Given the description of an element on the screen output the (x, y) to click on. 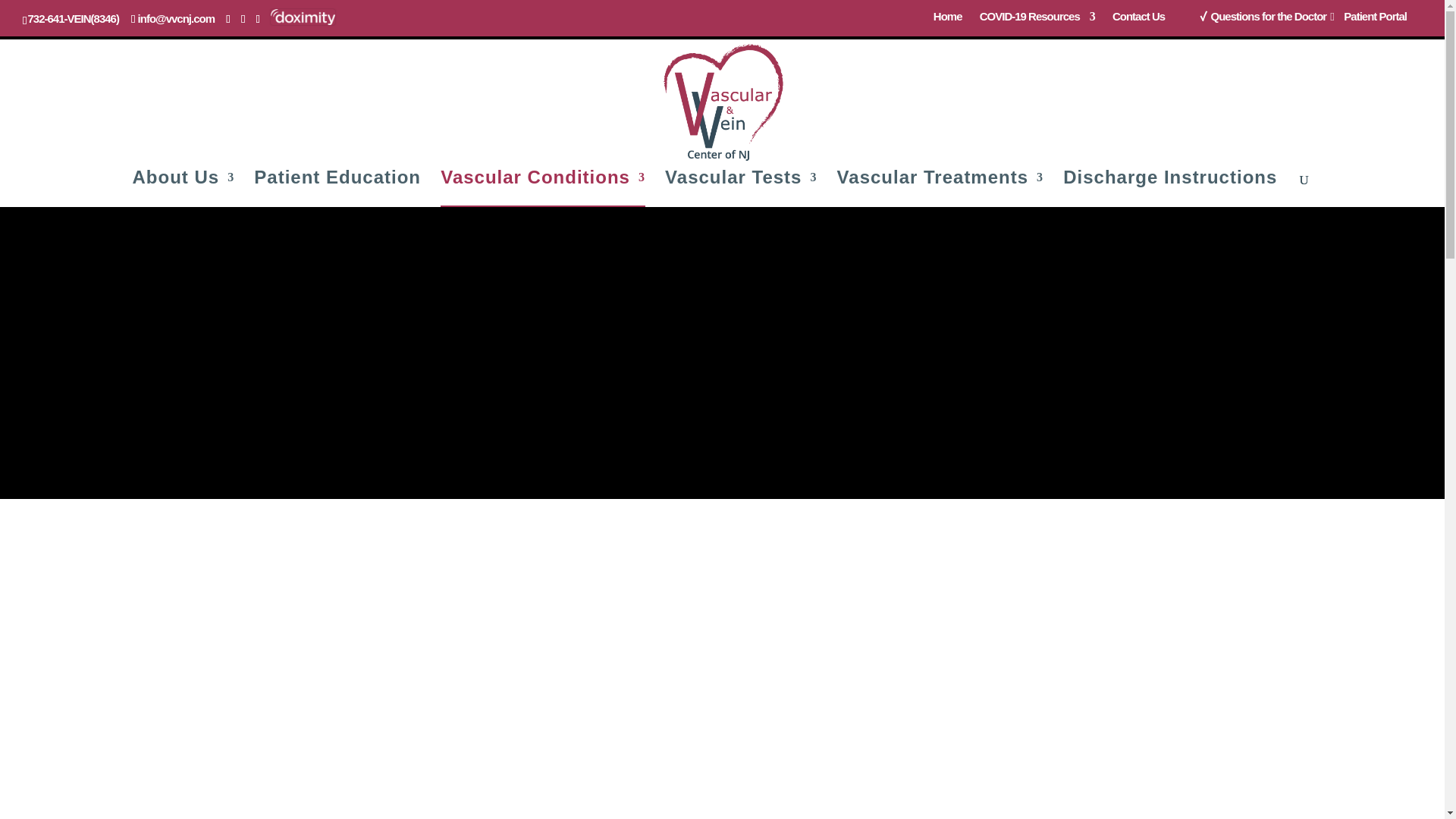
Home (947, 21)
Patient Portal (1374, 21)
COVID-19 Resources (1036, 21)
Contact Us (1138, 21)
Patient Education (336, 189)
About Us (183, 189)
